Given the description of an element on the screen output the (x, y) to click on. 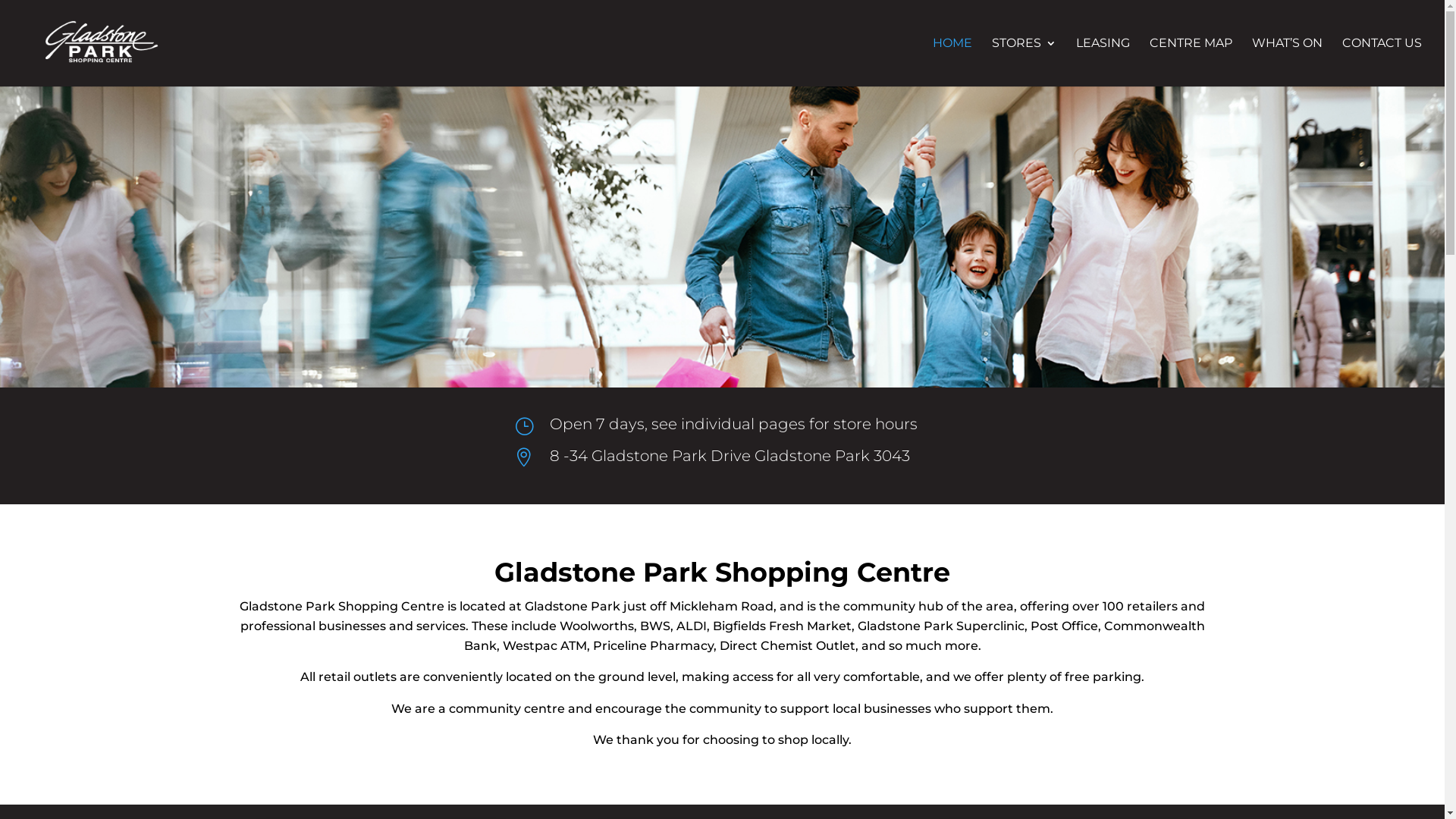
CONTACT US Element type: text (1381, 61)
STORES Element type: text (1023, 61)
CENTRE MAP Element type: text (1190, 61)
LEASING Element type: text (1102, 61)
Gladstone-Home-Hero Element type: hover (722, 236)
HOME Element type: text (952, 61)
